Given the description of an element on the screen output the (x, y) to click on. 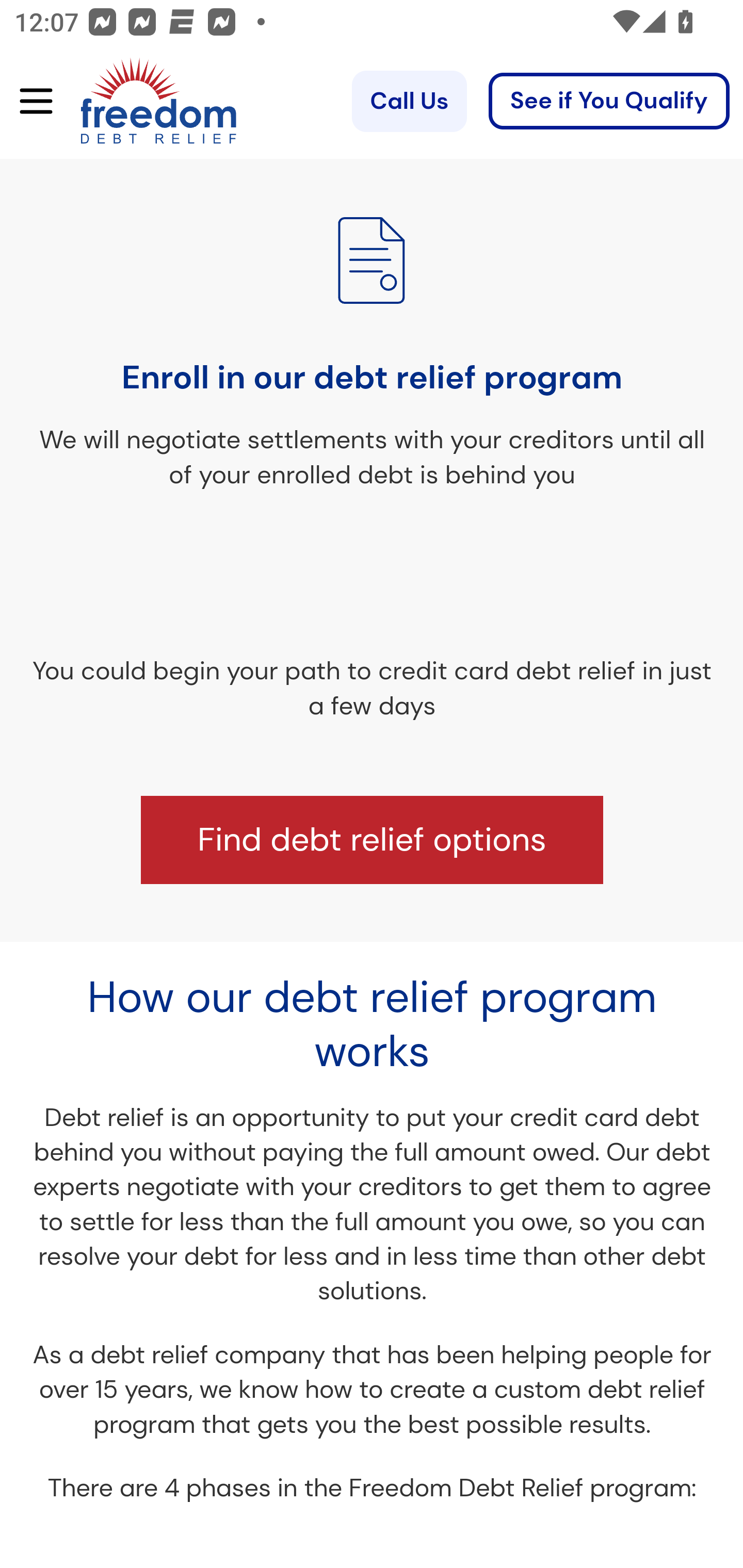
Freedom Debt Relief (130, 101)
Call Us (408, 101)
See if You Qualify (609, 101)
menu toggle (28, 101)
Find debt relief options (370, 840)
